Given the description of an element on the screen output the (x, y) to click on. 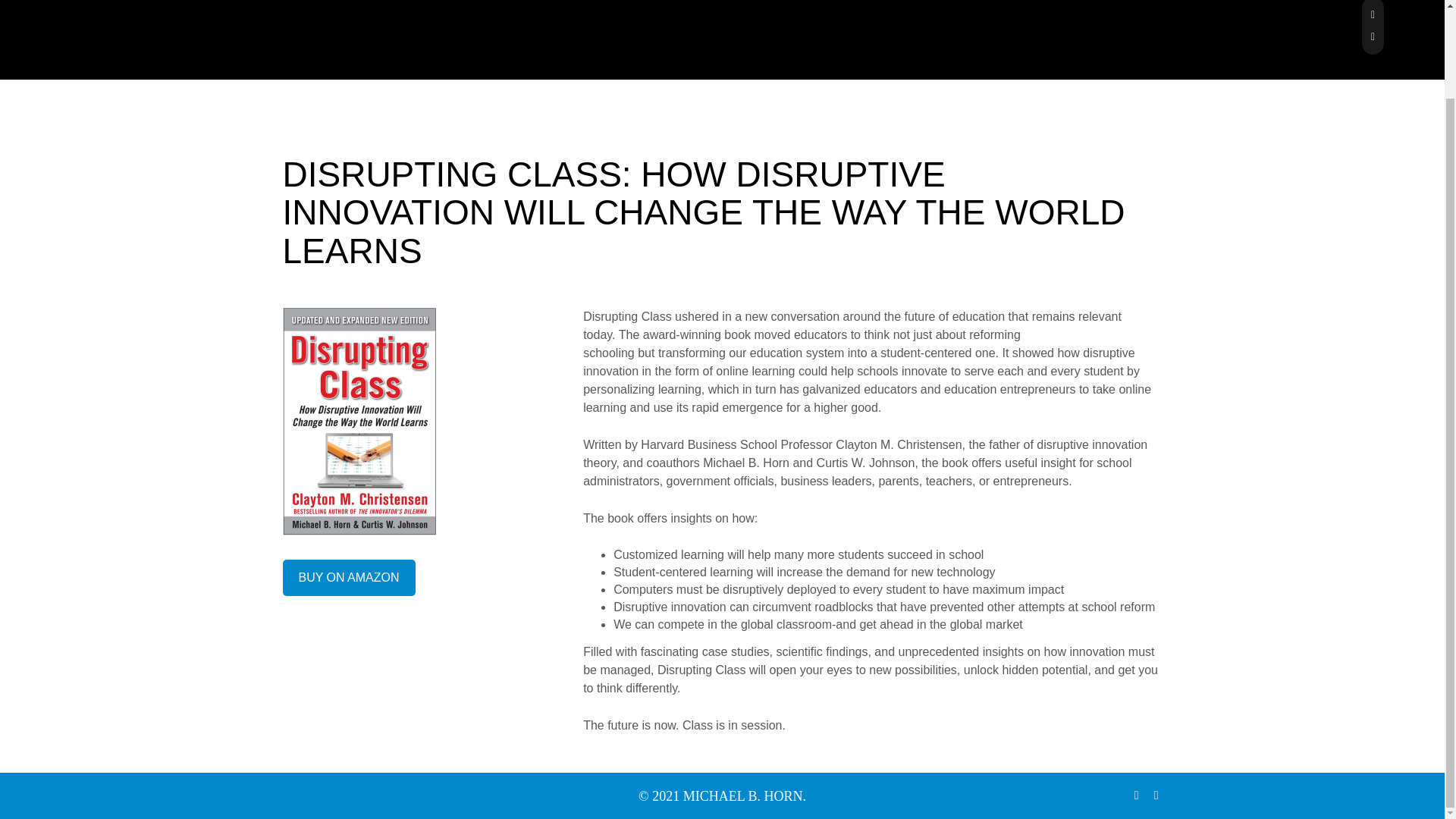
BUY ON AMAZON (348, 577)
